Given the description of an element on the screen output the (x, y) to click on. 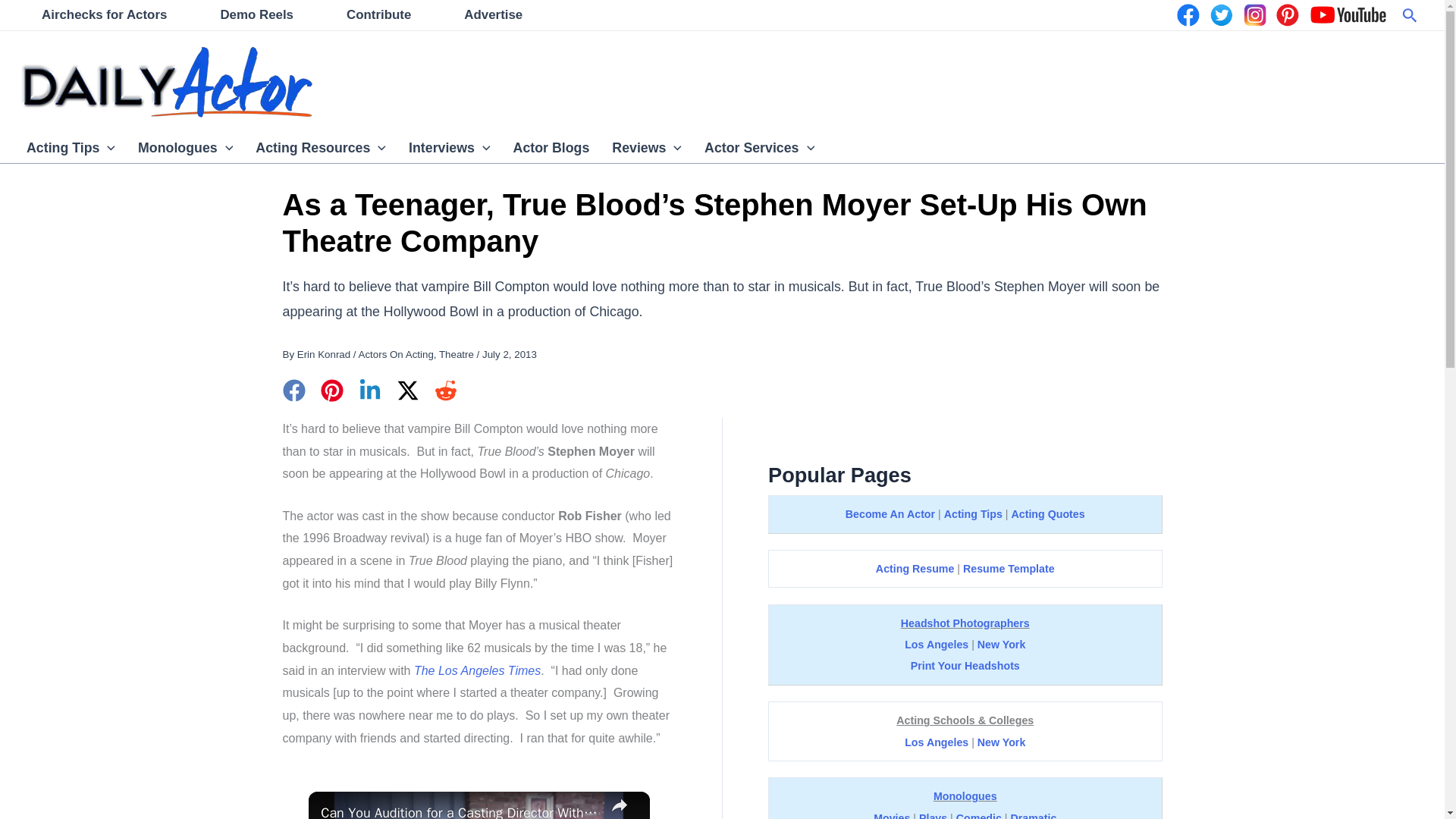
Monologues (185, 147)
Advertise (493, 15)
Airchecks for Actors (103, 15)
Acting Resources (320, 147)
Contribute (379, 15)
Demo Reels (256, 15)
share (619, 805)
Acting Tips (70, 147)
View all posts by Erin Konrad (323, 354)
